Given the description of an element on the screen output the (x, y) to click on. 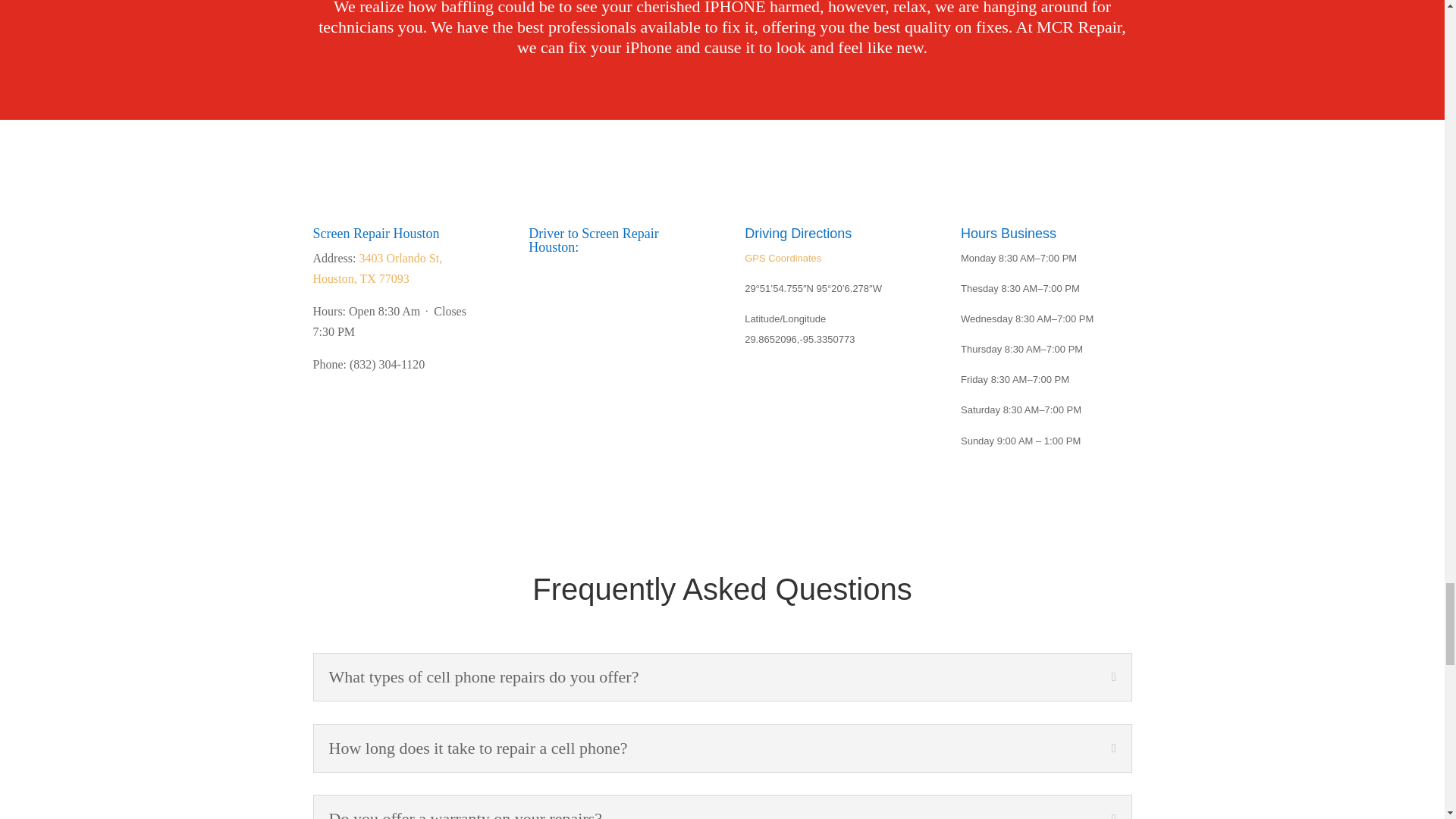
Screen Repair Houston (376, 233)
3403 Orlando St, Houston, TX 77093 (377, 268)
GPS Coordinates (782, 257)
